Given the description of an element on the screen output the (x, y) to click on. 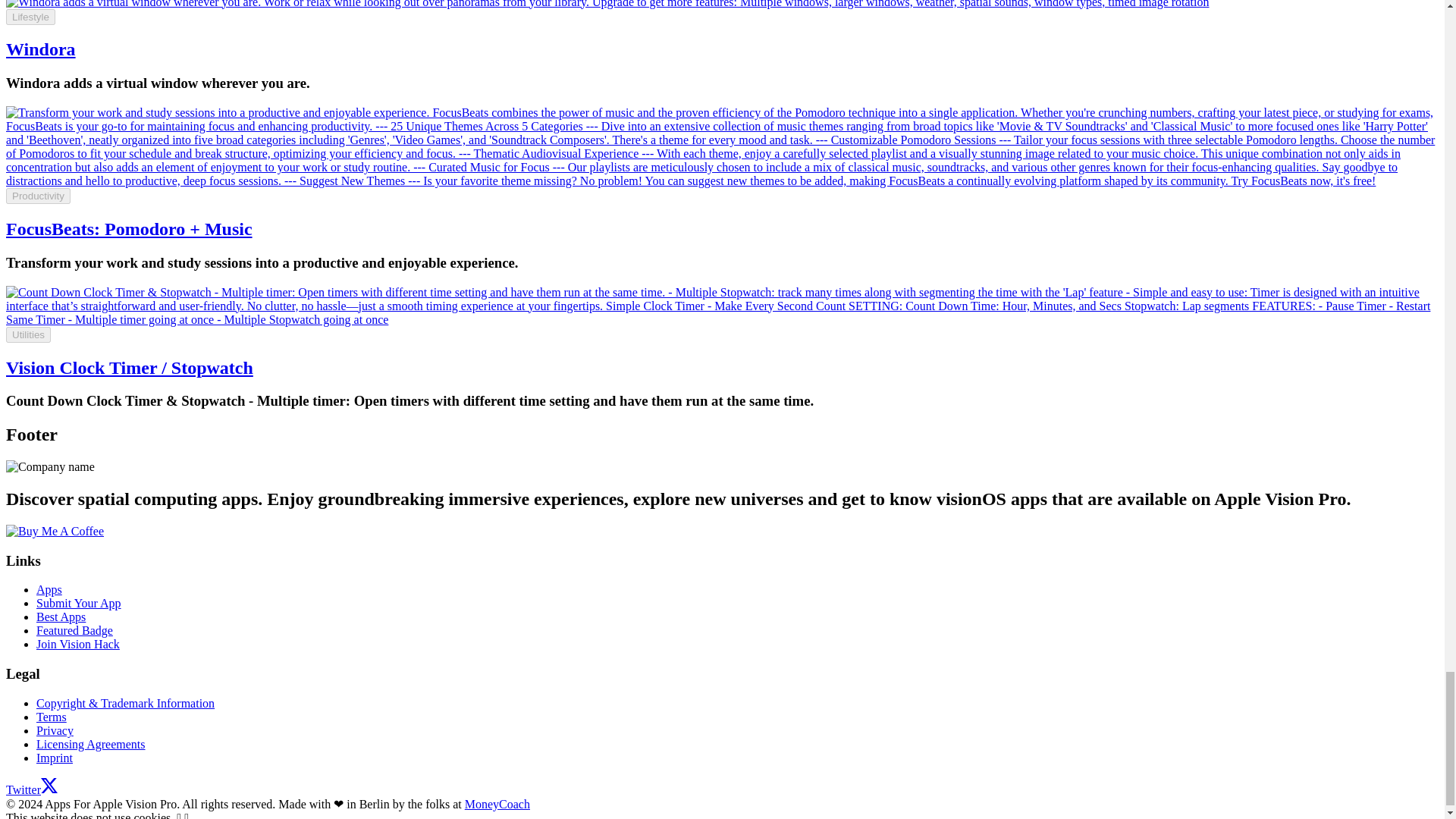
Submit Your App (78, 603)
Utilities (27, 334)
Terms (51, 716)
Privacy (55, 730)
Join Vision Hack (77, 644)
Apps (49, 589)
Licensing Agreements (90, 744)
Lifestyle (30, 17)
Windora (40, 48)
Productivity (37, 195)
